Given the description of an element on the screen output the (x, y) to click on. 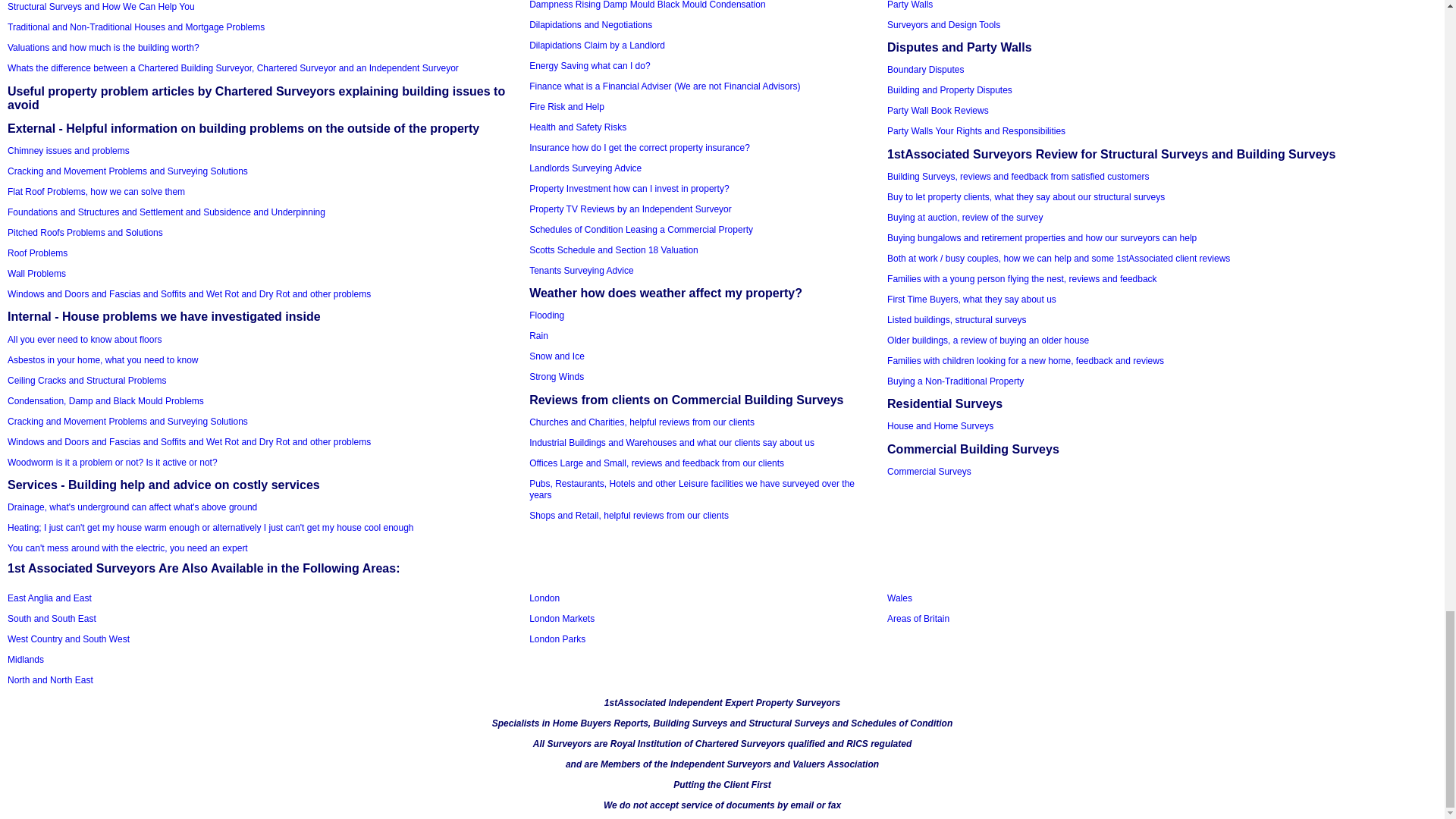
Traditional and Non-Traditional Houses and Mortgage Problems (135, 27)
Structural Surveys and How We Can Help You (101, 6)
Flat Roof Problems, how we can solve them (95, 191)
Chimney issues and problems (68, 150)
Pitched Roofs Problems and Solutions (85, 232)
Roof Problems (36, 253)
Valuations and how much is the building worth? (103, 47)
Wall Problems (36, 273)
